Given the description of an element on the screen output the (x, y) to click on. 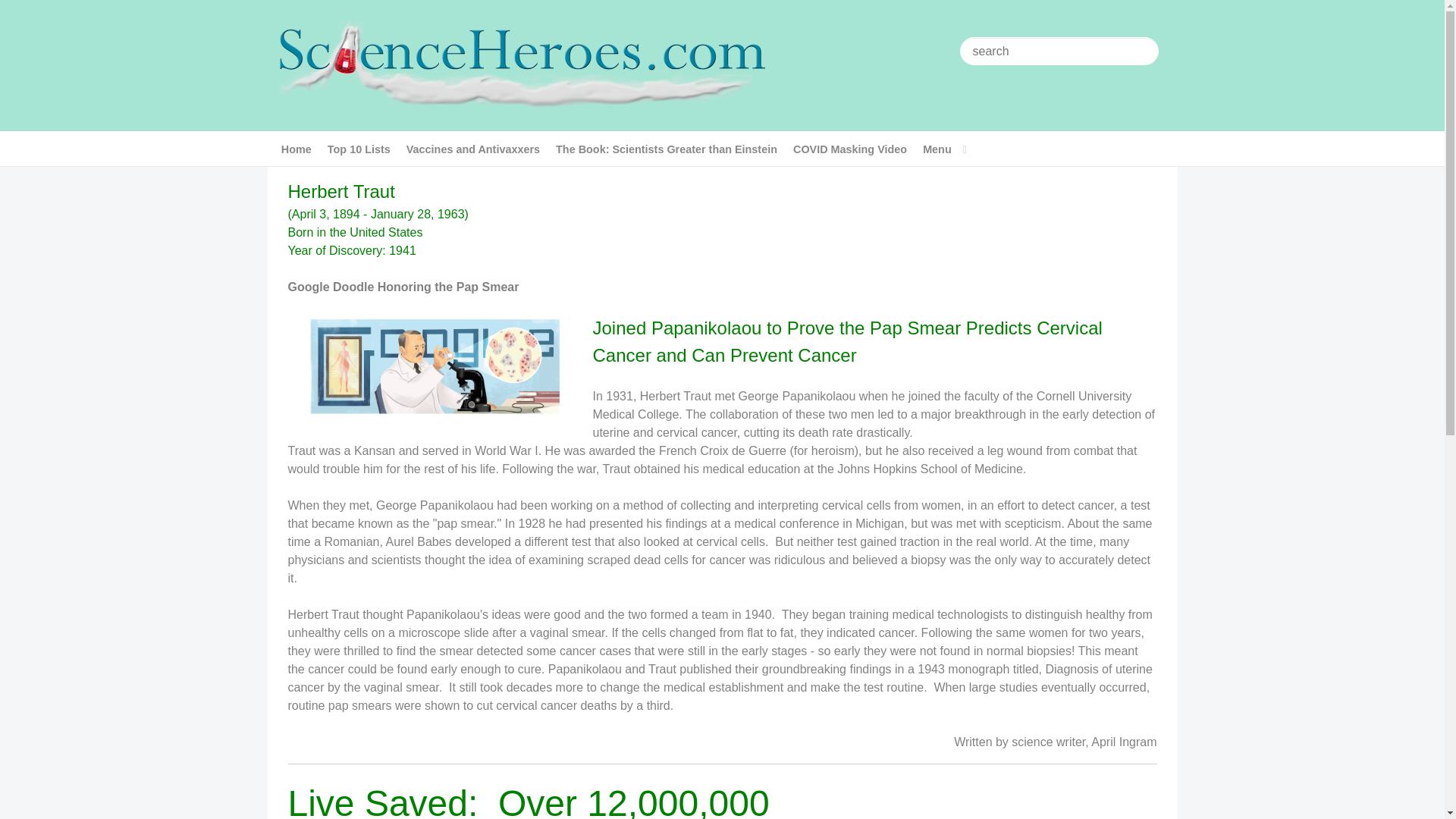
The Book: Scientists Greater than Einstein (666, 149)
Vaccines and Antivaxxers (472, 149)
ScienceHeroes (521, 64)
COVID Masking Video (849, 149)
Menu (944, 149)
Top 10 Lists (358, 149)
Home (296, 149)
